Given the description of an element on the screen output the (x, y) to click on. 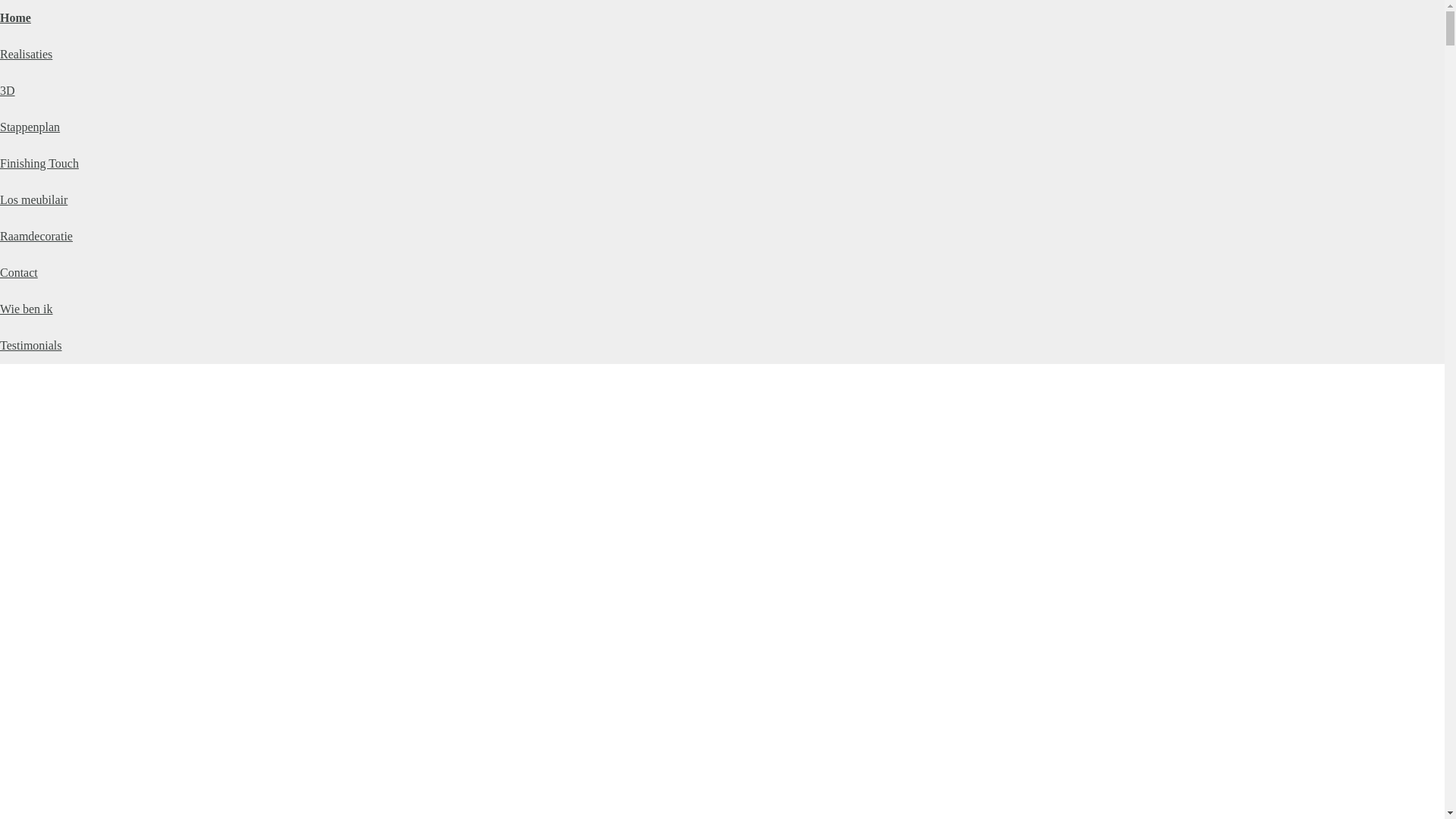
Testimonials Element type: text (31, 344)
Los meubilair Element type: text (33, 199)
Home Element type: text (15, 17)
Stappenplan Element type: text (29, 126)
Realisaties Element type: text (26, 53)
Wie ben ik Element type: text (26, 308)
Finishing Touch Element type: text (39, 162)
3D Element type: text (7, 90)
Raamdecoratie Element type: text (36, 235)
Contact Element type: text (18, 272)
